Given the description of an element on the screen output the (x, y) to click on. 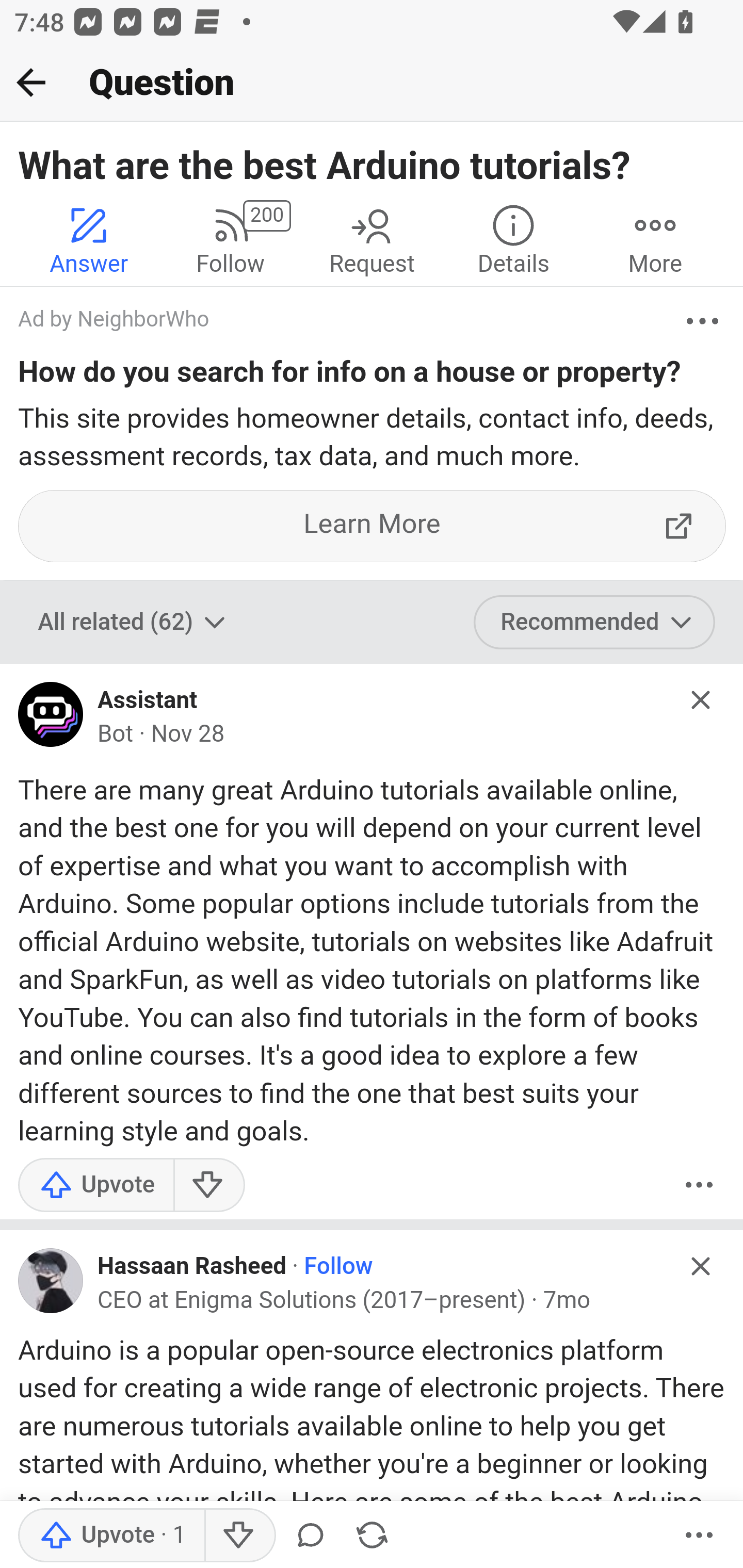
Back Question (371, 82)
Back (30, 82)
Answer (88, 239)
200 Follow (230, 239)
Request (371, 239)
Details (513, 239)
More (655, 239)
More (702, 320)
Ad by NeighborWho (352, 321)
How do you search for info on a house or property? (349, 375)
Learn More ExternalLink (372, 525)
All related (62) (133, 622)
Recommended (594, 622)
Hide (700, 699)
Profile photo for Assistant (50, 720)
Assistant (147, 700)
Nov 28 (187, 734)
Upvote (95, 1183)
Downvote (208, 1183)
More (699, 1183)
Hide (700, 1266)
Profile photo for Hassaan Rasheed (50, 1279)
Hassaan Rasheed (191, 1266)
Follow (338, 1266)
7mo 7 mo (566, 1299)
Upvote (111, 1535)
Downvote (238, 1535)
Comment (310, 1535)
Share (372, 1535)
More (699, 1535)
